Given the description of an element on the screen output the (x, y) to click on. 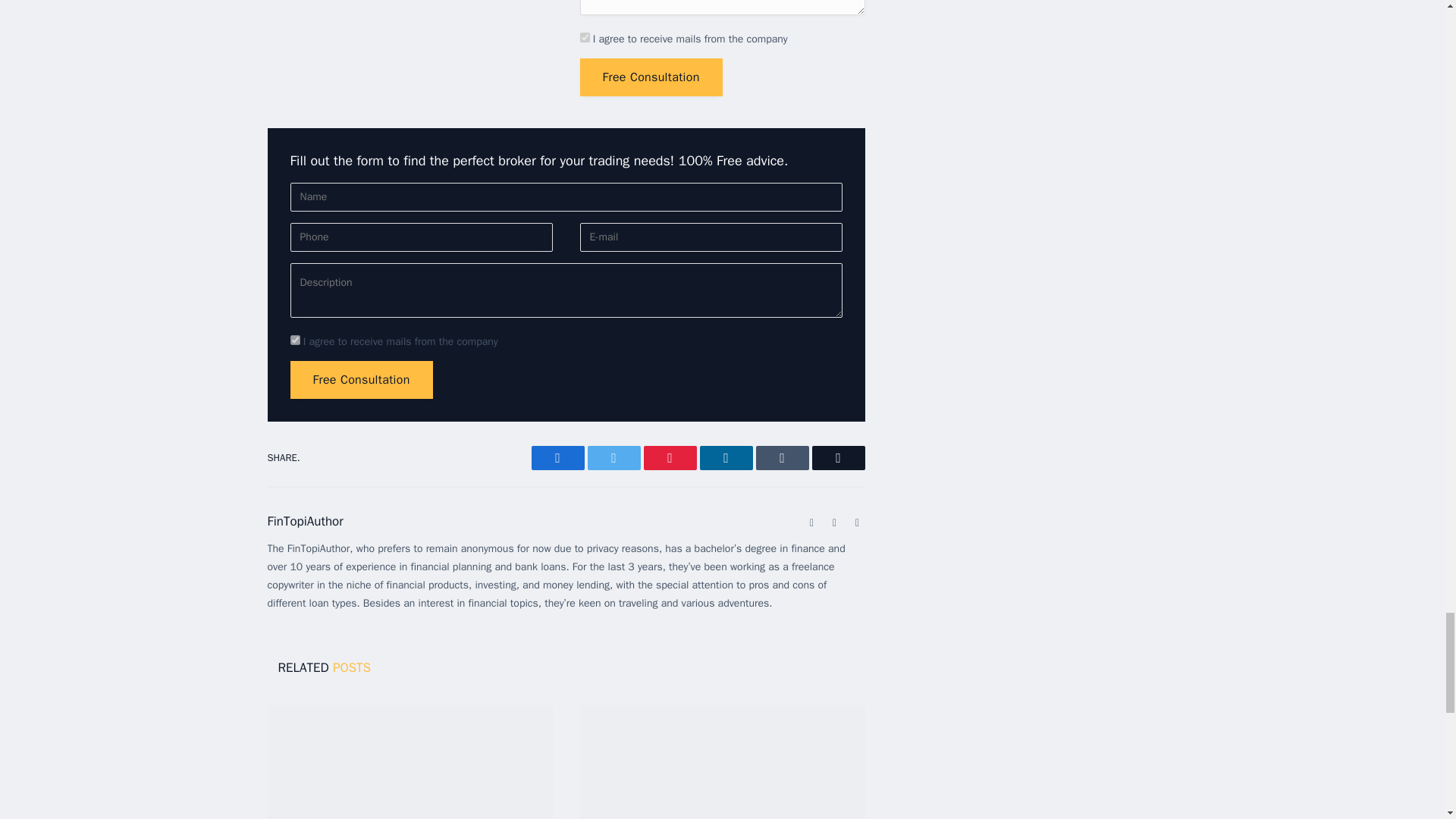
on (294, 339)
Free Consultation (650, 77)
on (584, 37)
Free Consultation (360, 379)
